Given the description of an element on the screen output the (x, y) to click on. 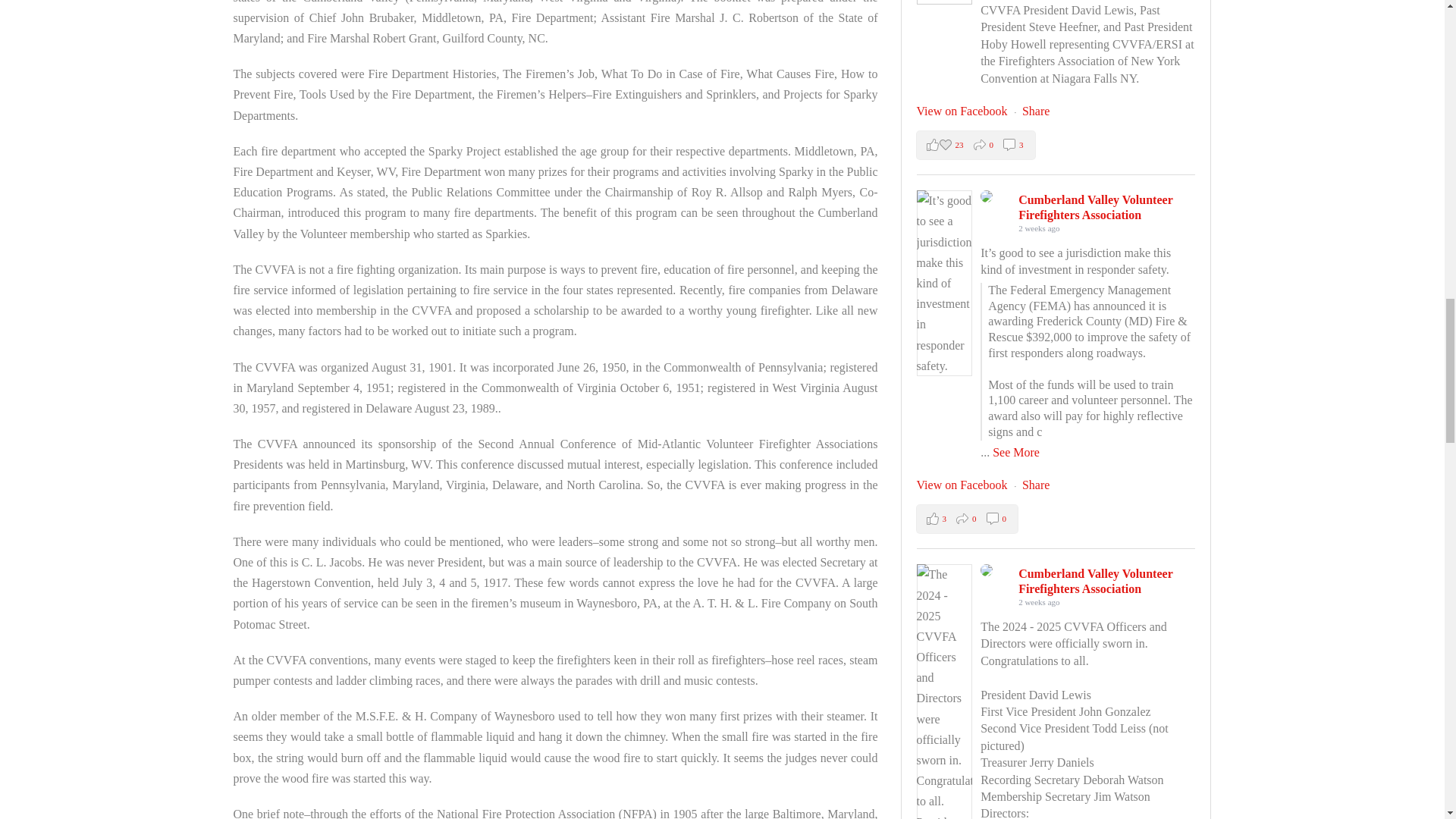
View on Facebook (962, 110)
View on Facebook (962, 484)
Share (1035, 484)
Share (1035, 110)
